Given the description of an element on the screen output the (x, y) to click on. 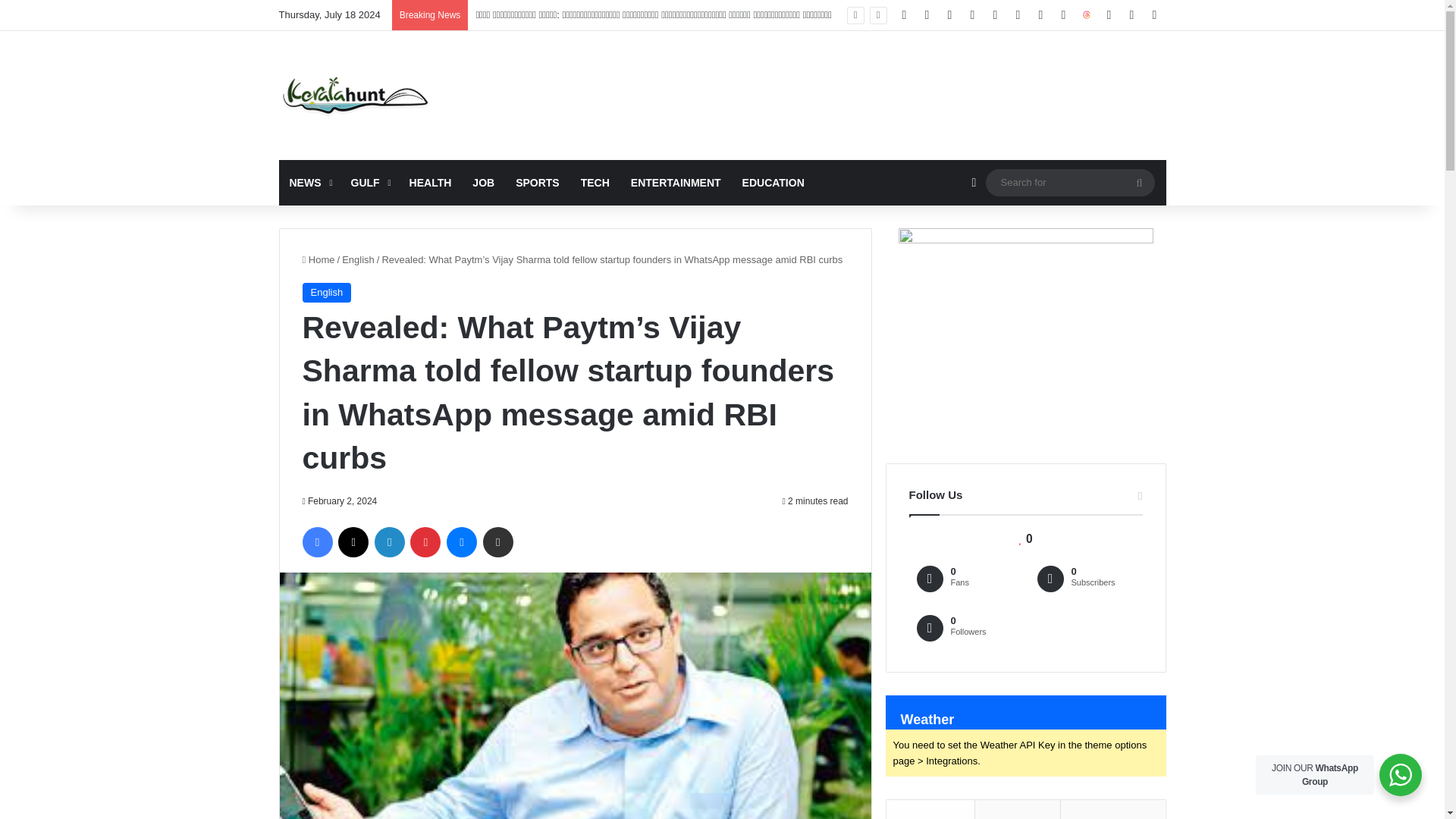
Share via Email (498, 542)
JOB (483, 182)
Threads (1086, 15)
Facebook (904, 15)
X (352, 542)
Log In (1109, 15)
Home (317, 259)
ENTERTAINMENT (676, 182)
WordPress (972, 15)
Facebook (316, 542)
English (358, 259)
WhatsApp (1040, 15)
Random Article (973, 182)
Instagram (995, 15)
English (325, 292)
